Given the description of an element on the screen output the (x, y) to click on. 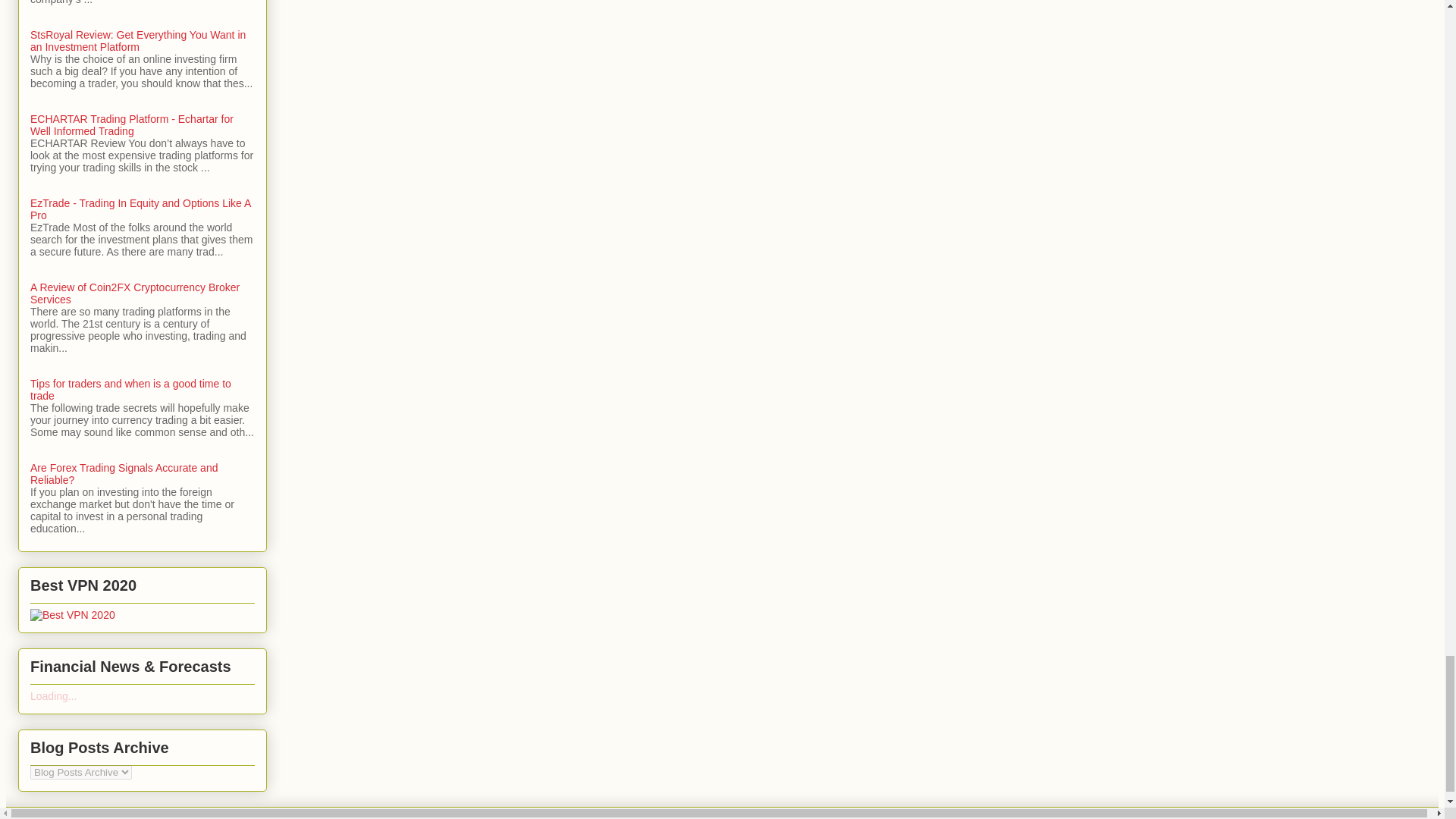
EzTrade - Trading In Equity and Options Like A Pro (140, 209)
A Review of Coin2FX Cryptocurrency Broker Services (135, 293)
